Given the description of an element on the screen output the (x, y) to click on. 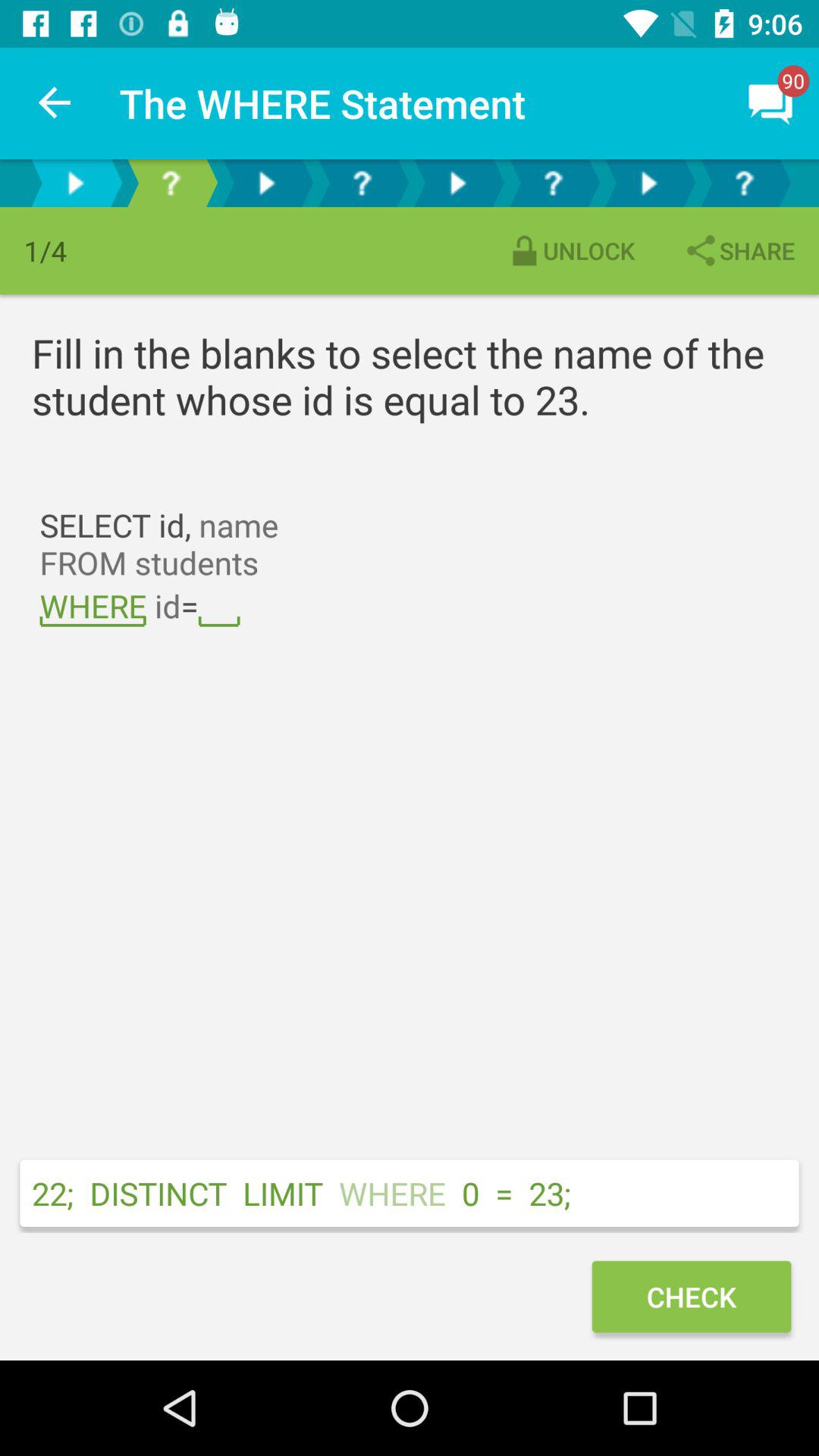
jump until share icon (738, 250)
